Given the description of an element on the screen output the (x, y) to click on. 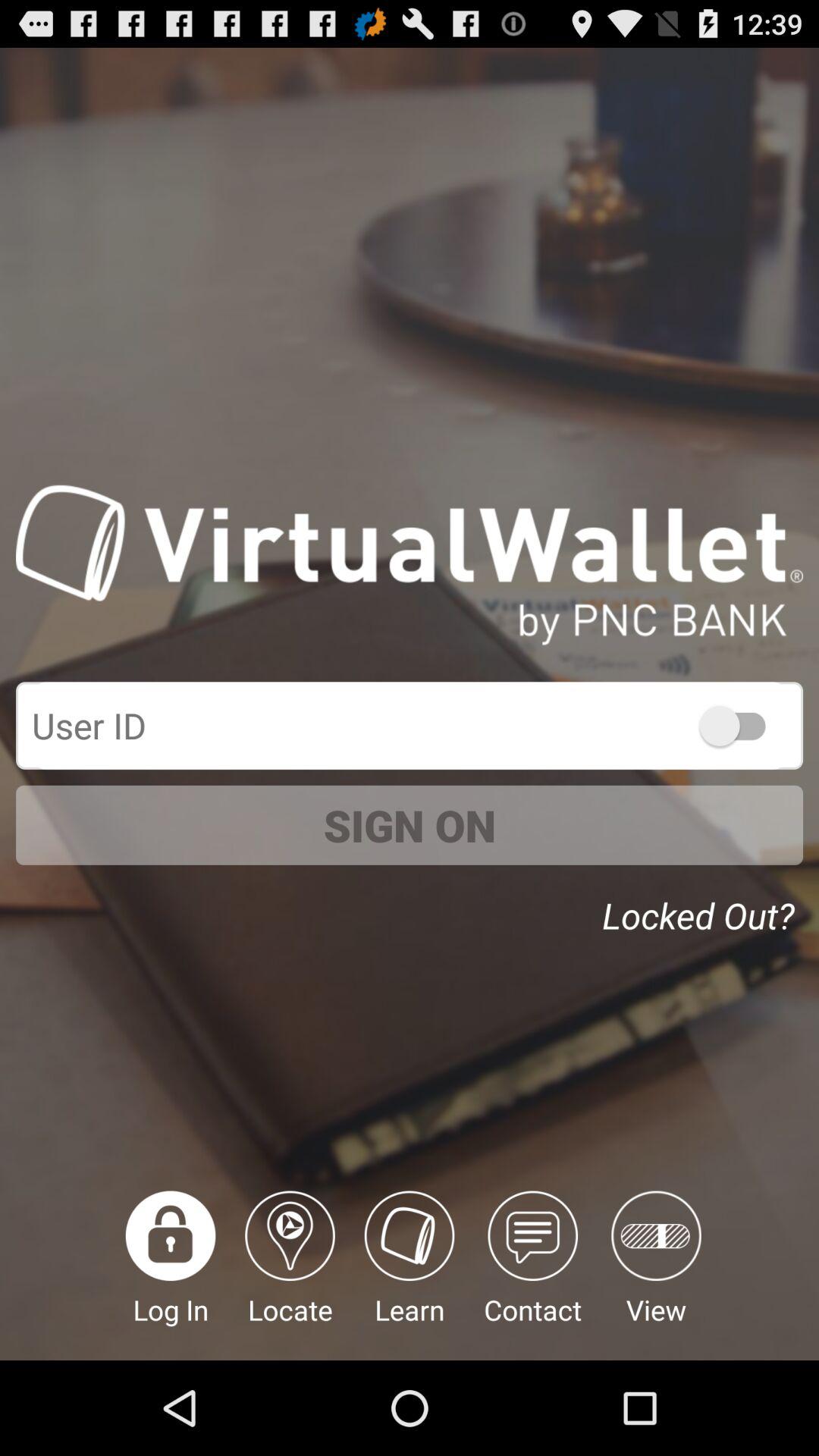
open the sign on item (409, 825)
